Given the description of an element on the screen output the (x, y) to click on. 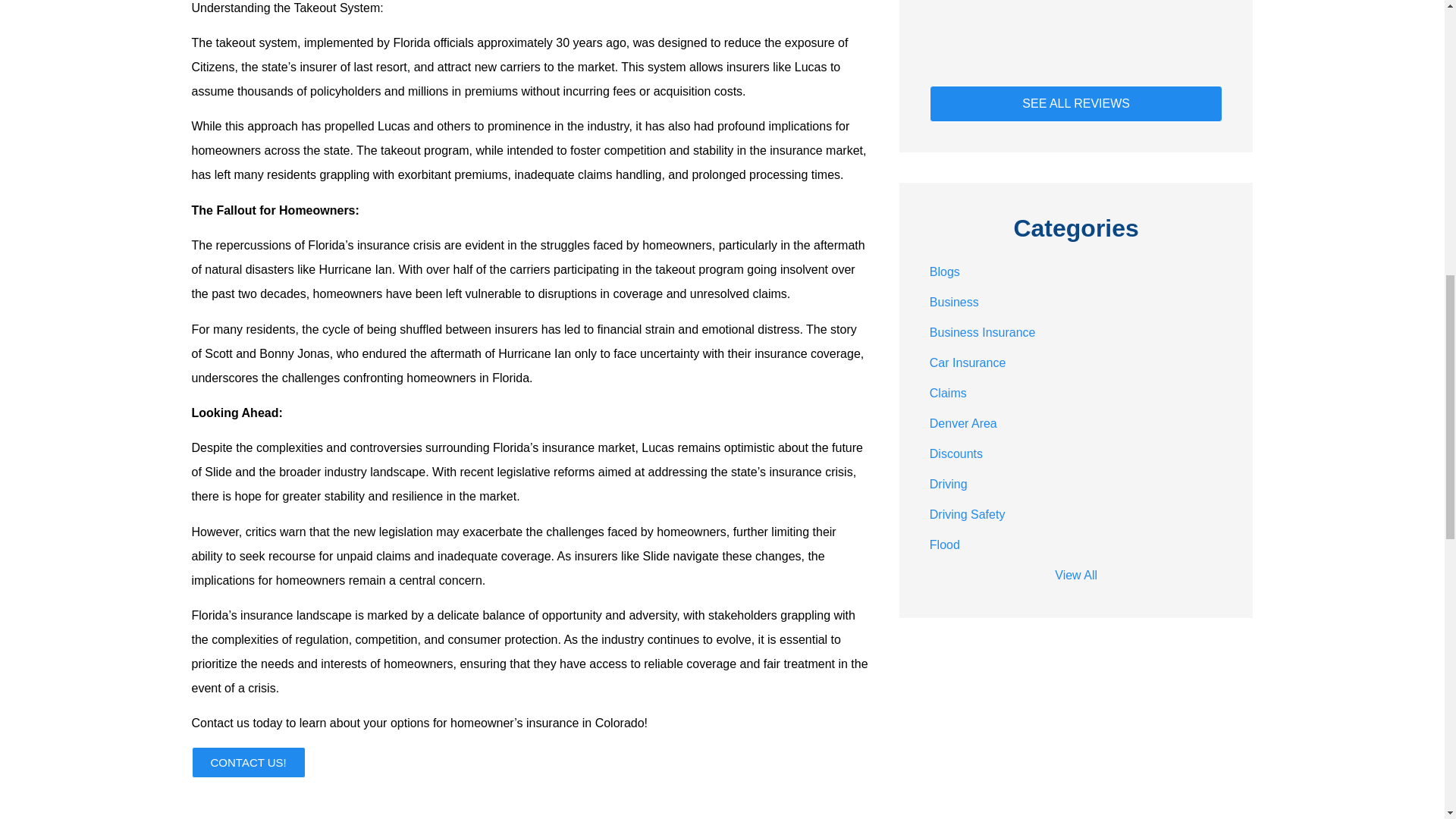
Anna-Lee Marie (1035, 8)
